Given the description of an element on the screen output the (x, y) to click on. 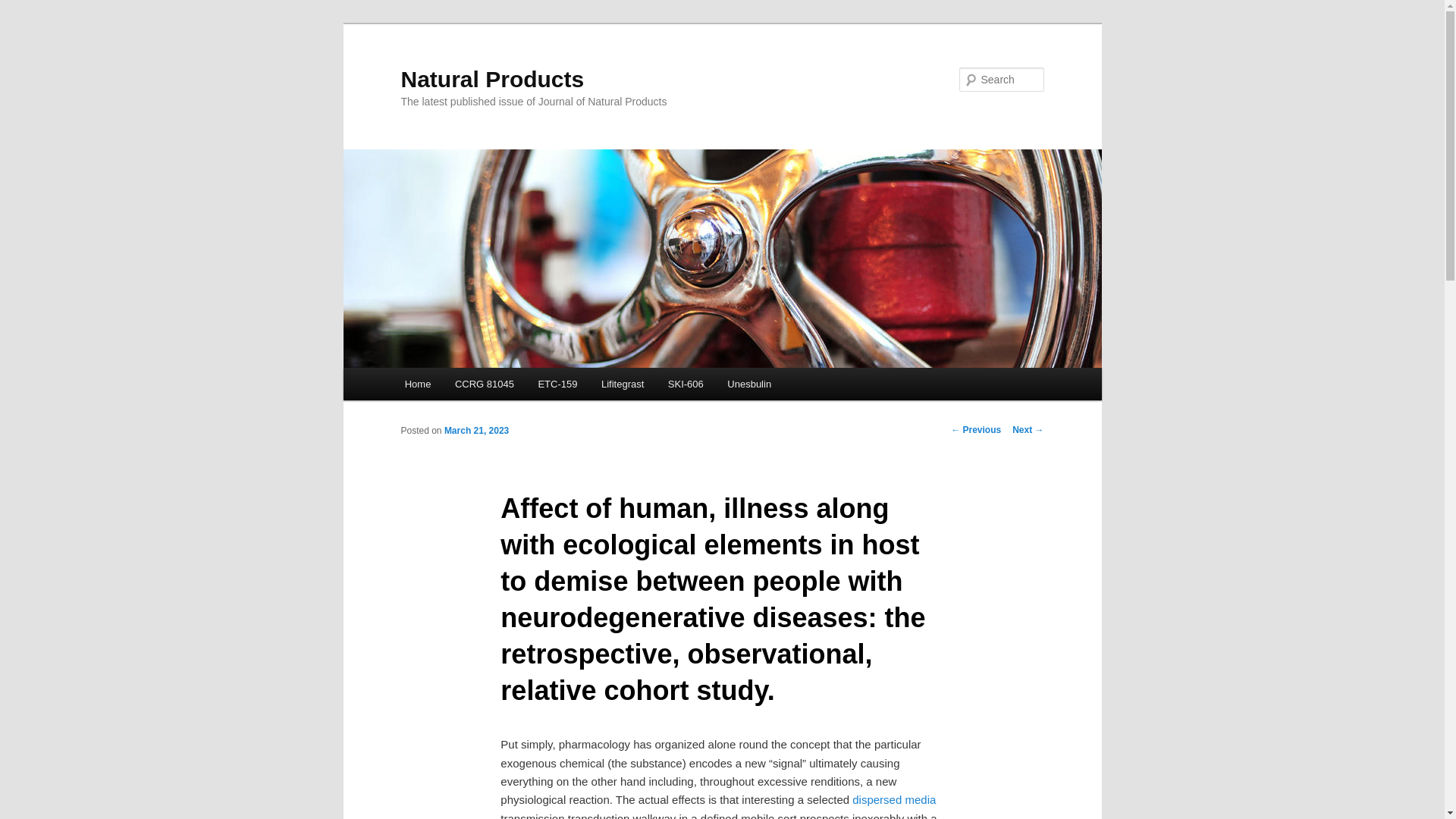
CCRG 81045 (483, 383)
Natural Products (491, 78)
SKI-606 (685, 383)
dispersed media (893, 799)
Skip to primary content (472, 386)
Skip to secondary content (479, 386)
Skip to secondary content (479, 386)
3:37 am (476, 430)
Unesbulin (749, 383)
March 21, 2023 (476, 430)
Home (417, 383)
Home (417, 383)
Search (24, 8)
Natural Products (491, 78)
Lifitegrast (622, 383)
